Given the description of an element on the screen output the (x, y) to click on. 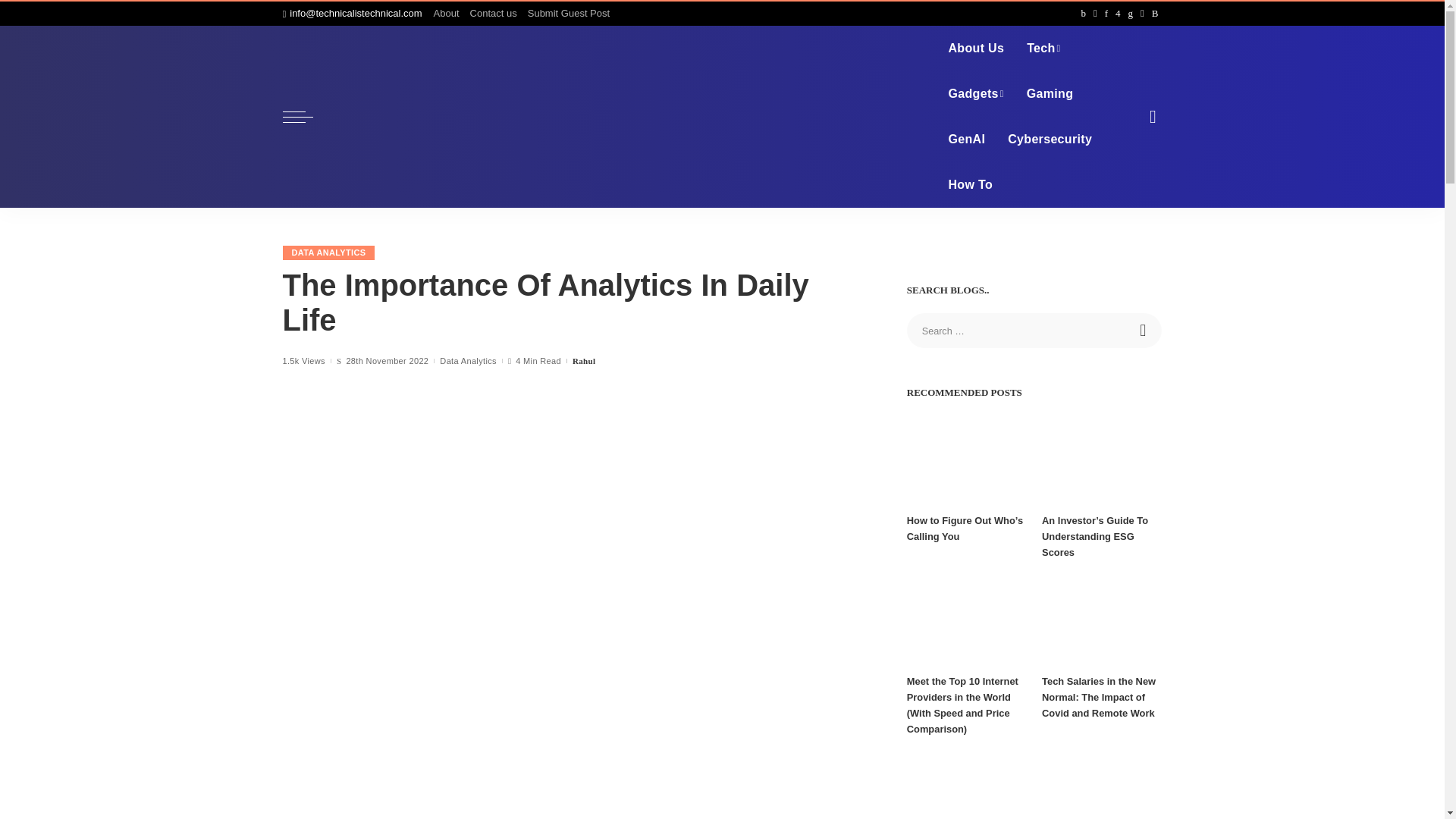
About (448, 13)
Contact us (493, 13)
Submit Guest Post (568, 13)
Search (1143, 330)
Search (1143, 330)
